Given the description of an element on the screen output the (x, y) to click on. 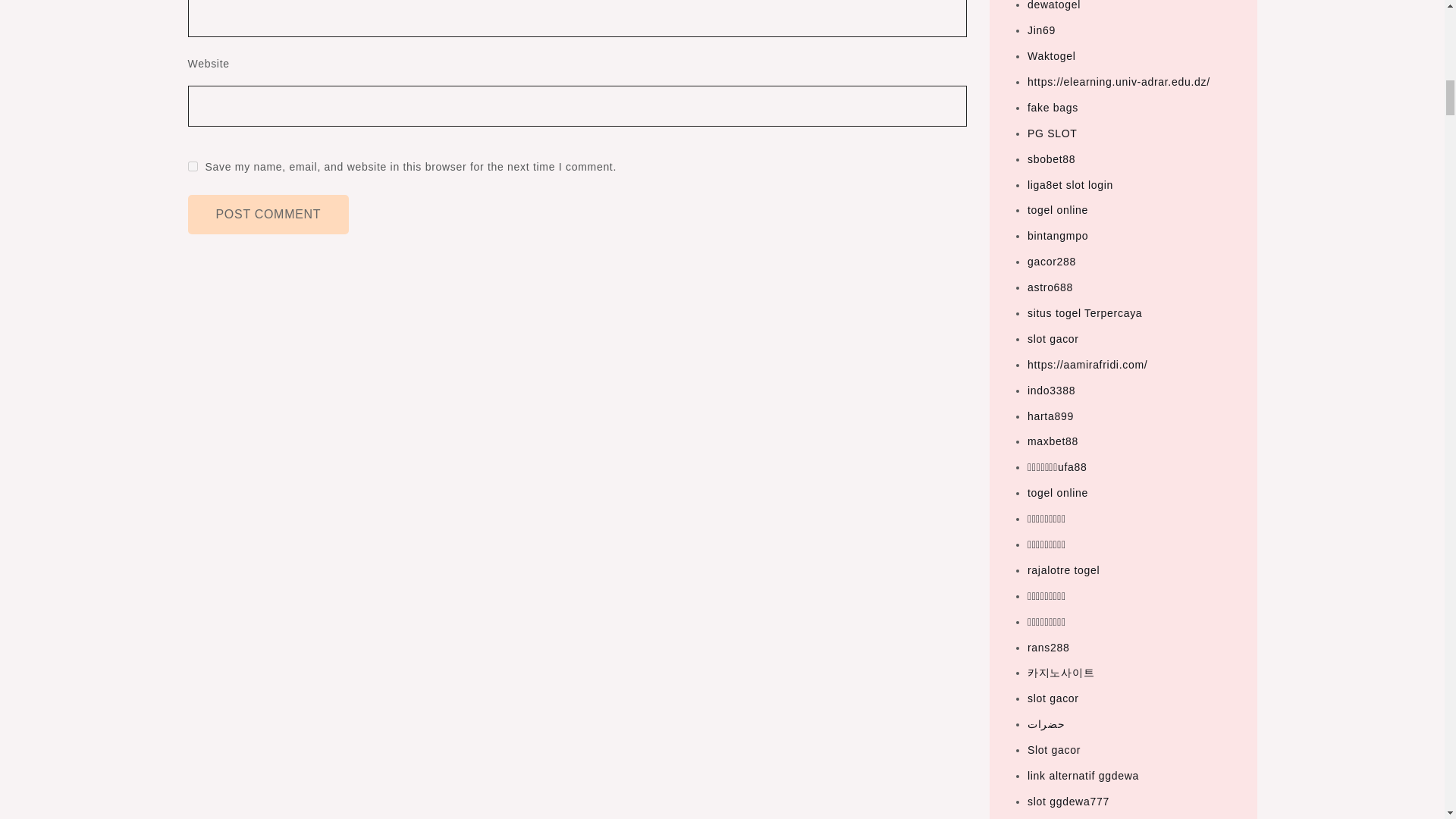
Post Comment (268, 214)
Post Comment (268, 214)
yes (192, 166)
